Given the description of an element on the screen output the (x, y) to click on. 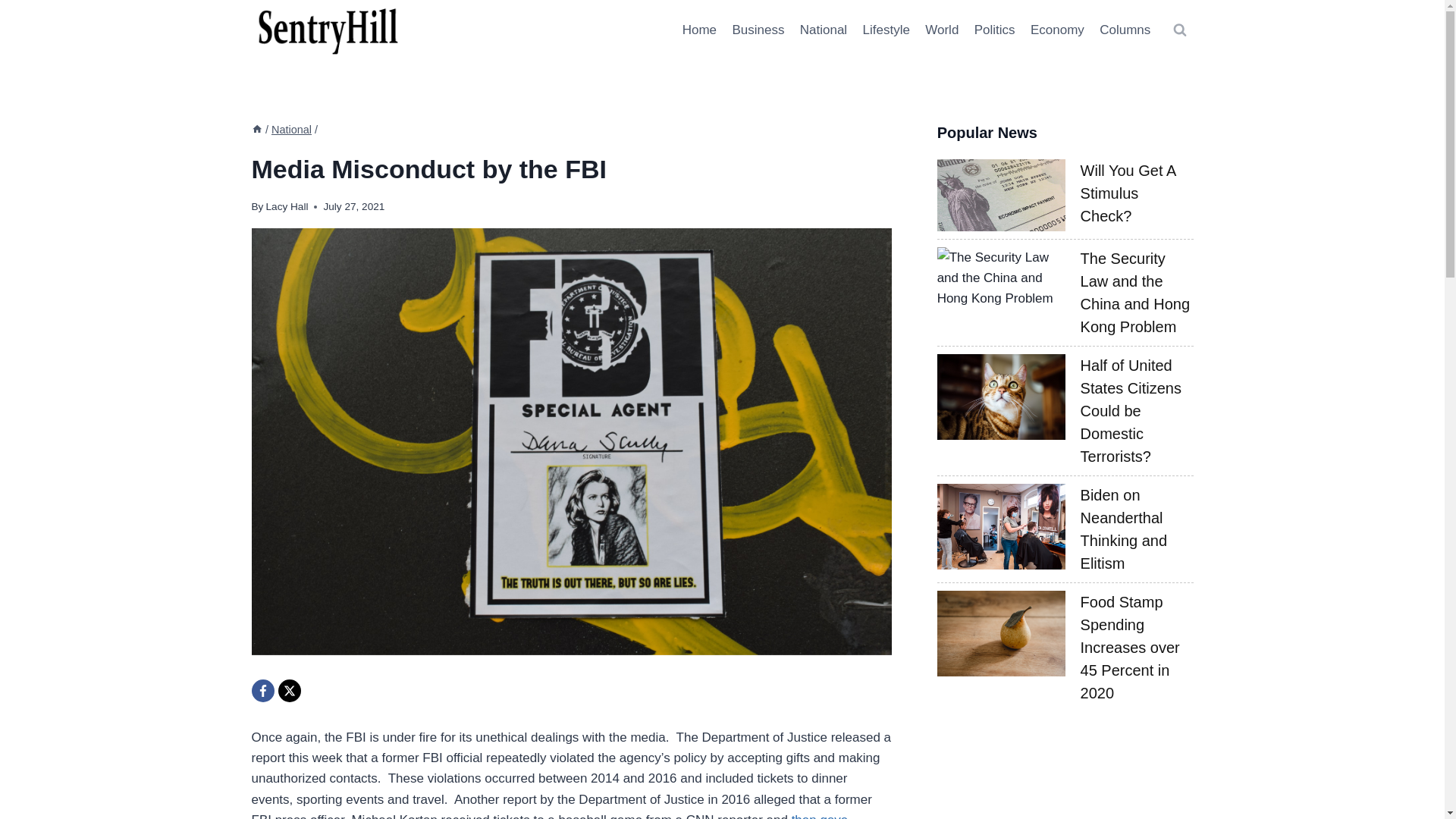
Biden on Neanderthal Thinking and Elitism (1123, 528)
Business (757, 30)
Half of United States Citizens Could be Domestic Terrorists? (1130, 411)
Columns (1124, 30)
Lacy Hall (287, 206)
National (290, 129)
Food Stamp Spending Increases over 45 Percent in 2020 (1129, 647)
Home (698, 30)
Politics (994, 30)
Will You Get A Stimulus Check? (1128, 193)
Economy (1057, 30)
Lifestyle (885, 30)
The Security Law and the China and Hong Kong Problem (1135, 292)
World (941, 30)
